Given the description of an element on the screen output the (x, y) to click on. 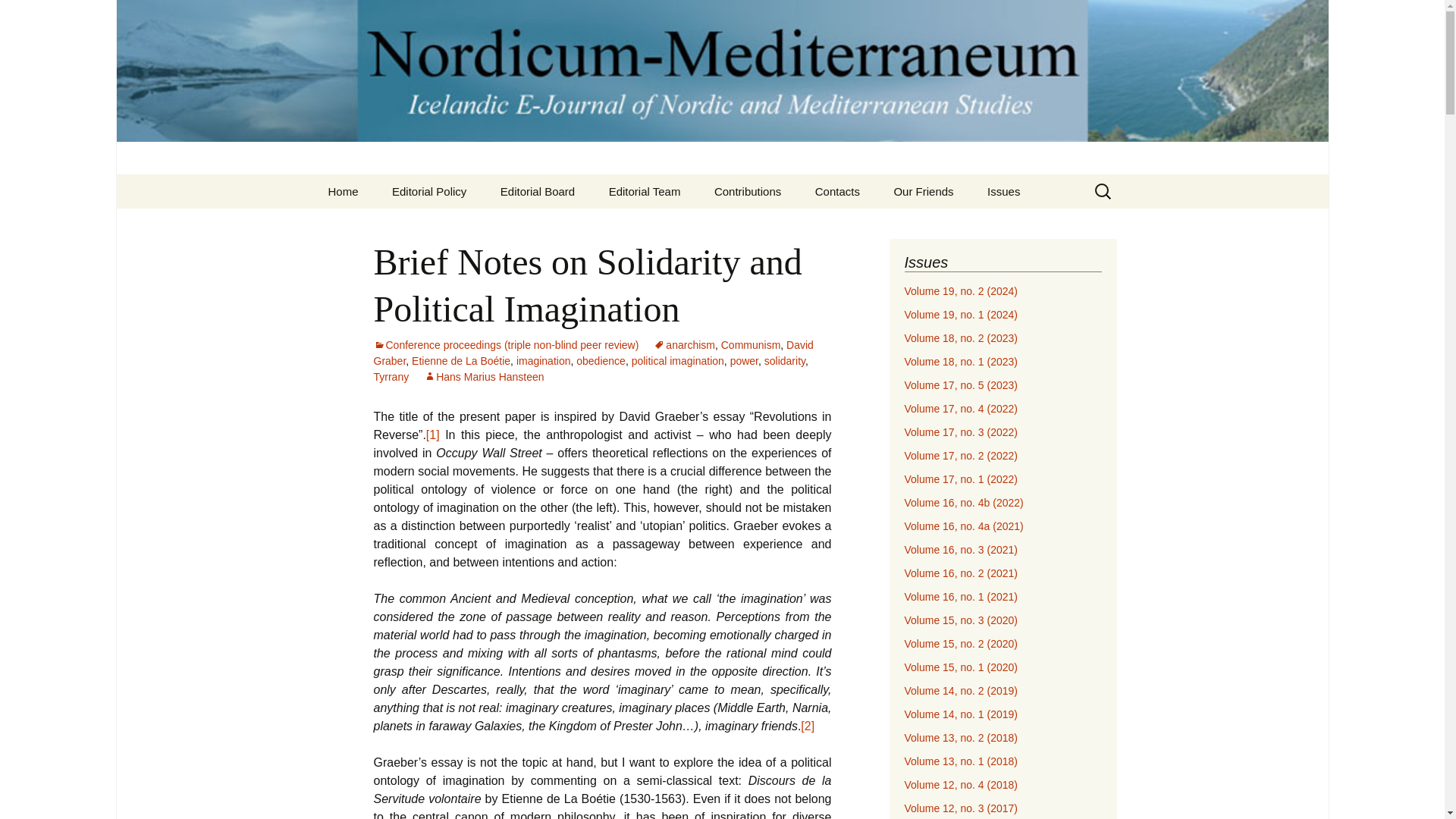
Contacts (837, 191)
Editorial Team (644, 191)
Editorial Policy (429, 191)
Home (342, 191)
Contributions (747, 191)
Editorial Board (536, 191)
Our Friends (922, 191)
Issues (1003, 191)
View all posts by Hans Marius Hansteen (483, 377)
